Given the description of an element on the screen output the (x, y) to click on. 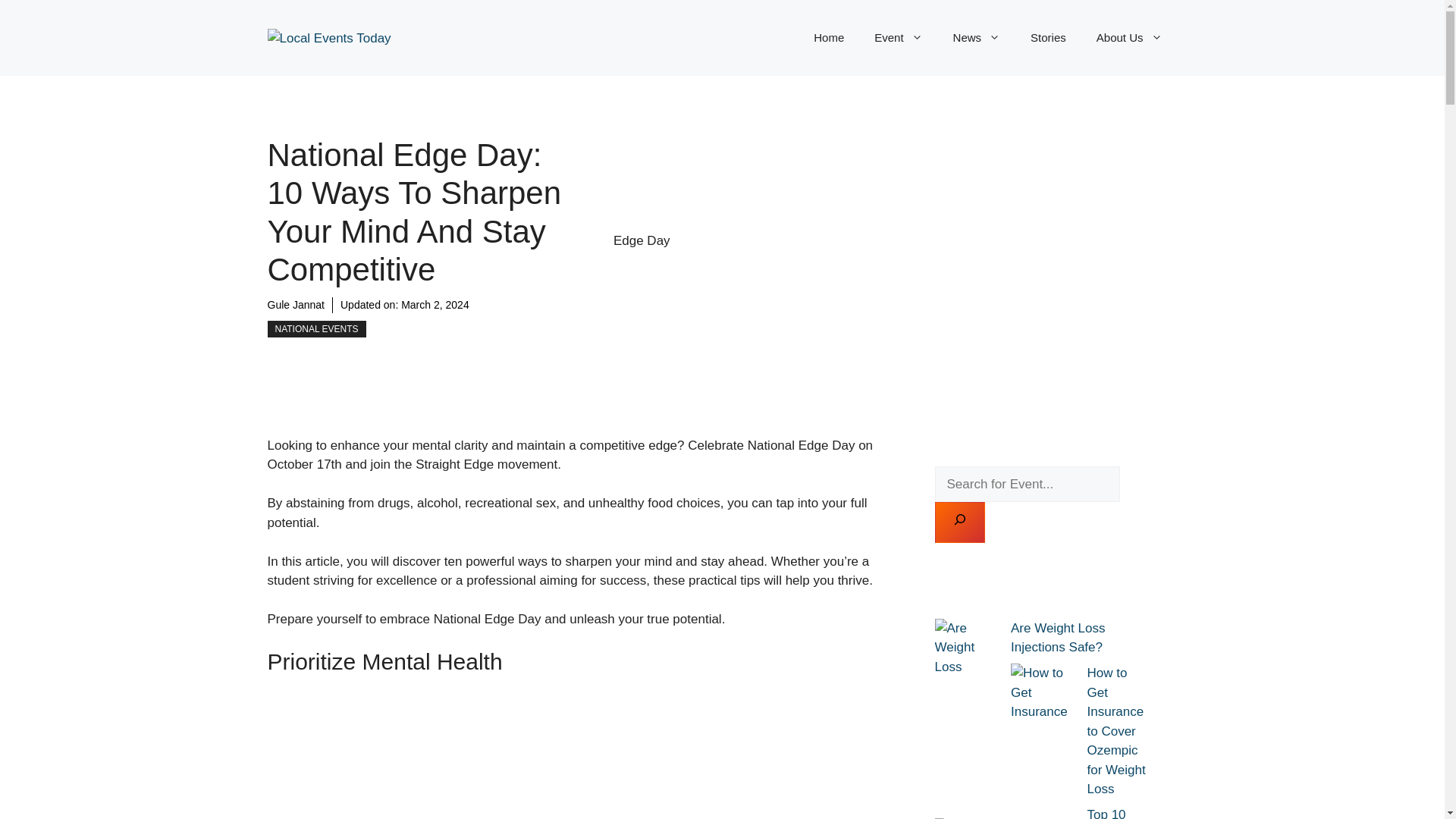
YouTube video player (569, 755)
Are Weight Loss Injections Safe? (1057, 637)
NATIONAL EVENTS (315, 329)
Stories (1047, 37)
News (976, 37)
About Us (1129, 37)
Gule Jannat (295, 304)
Event (898, 37)
Home (828, 37)
